Given the description of an element on the screen output the (x, y) to click on. 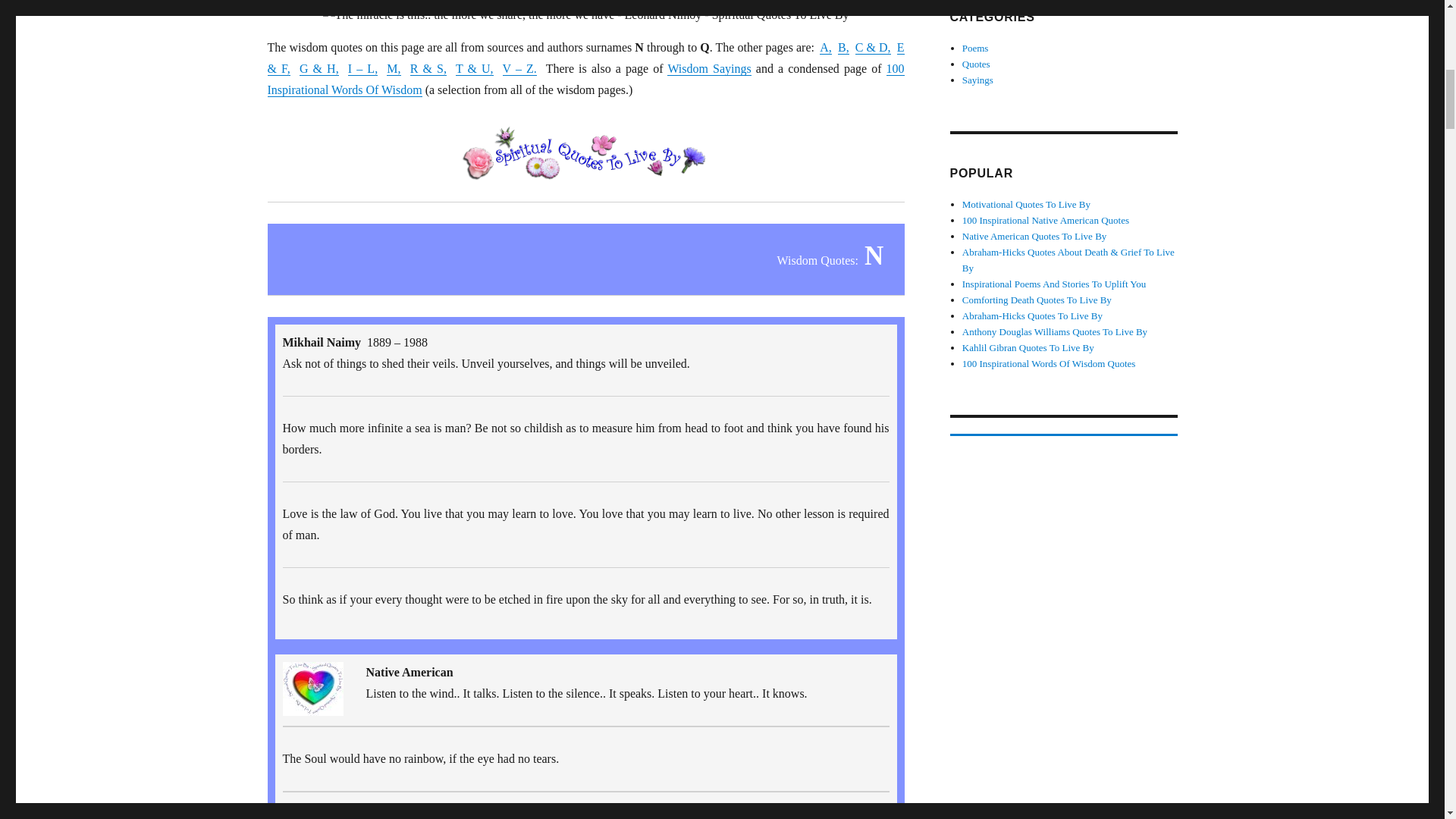
100 Inspirational Words Of Wisdom (585, 79)
Spiritual Quotes To Live By (312, 688)
M, (393, 68)
A, (825, 47)
Wisdom Sayings (708, 68)
Spiritual Quotes To Live By (585, 156)
